Given the description of an element on the screen output the (x, y) to click on. 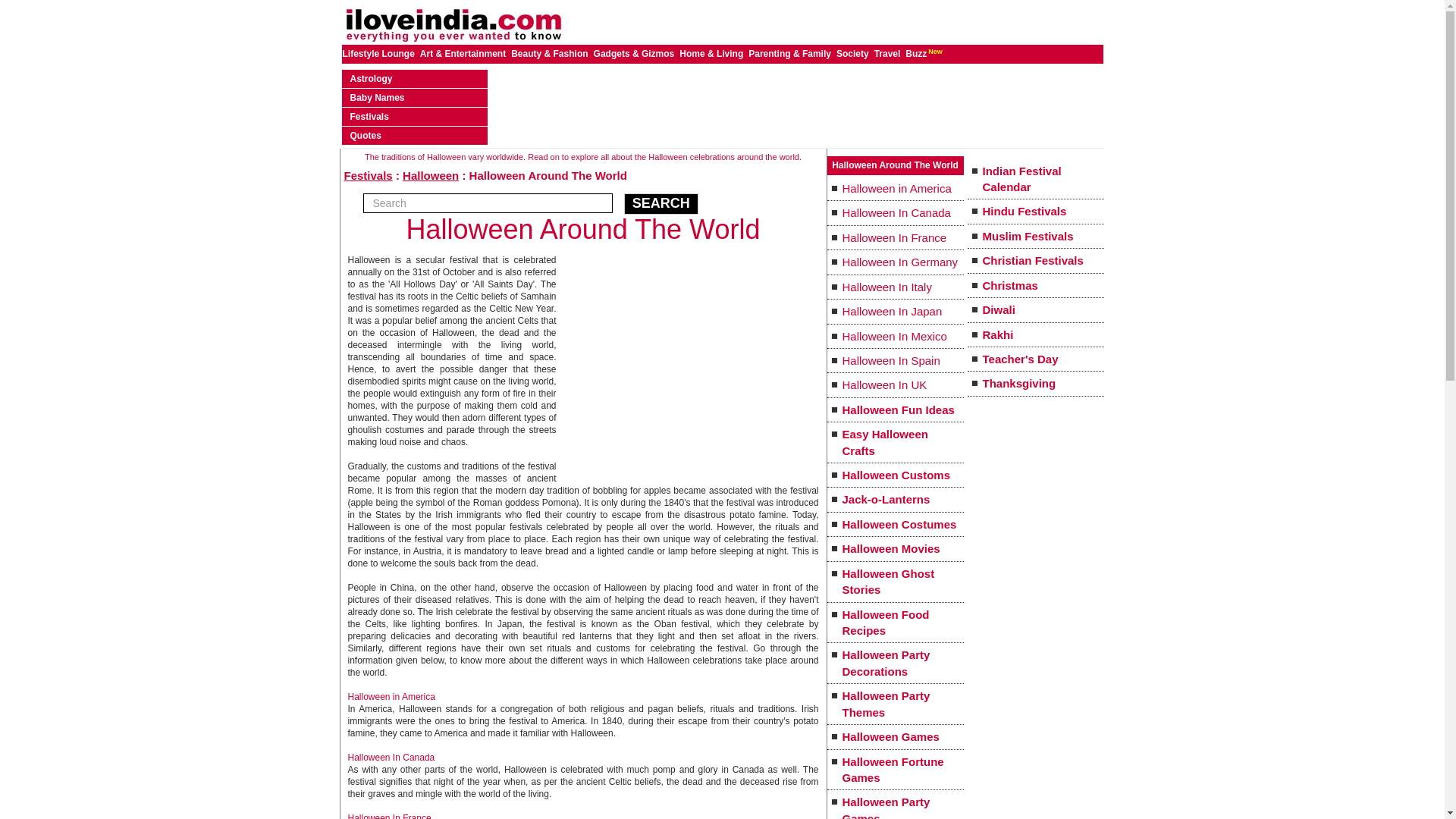
Festivals (368, 174)
Halloween In France (388, 816)
Festivals (369, 116)
Quotes (365, 135)
Halloween in America (390, 696)
Astrology (371, 78)
Halloween In Canada (390, 757)
Halloween (430, 174)
Lifestyle Lounge (379, 53)
SEARCH (661, 203)
Baby Names (377, 97)
